Given the description of an element on the screen output the (x, y) to click on. 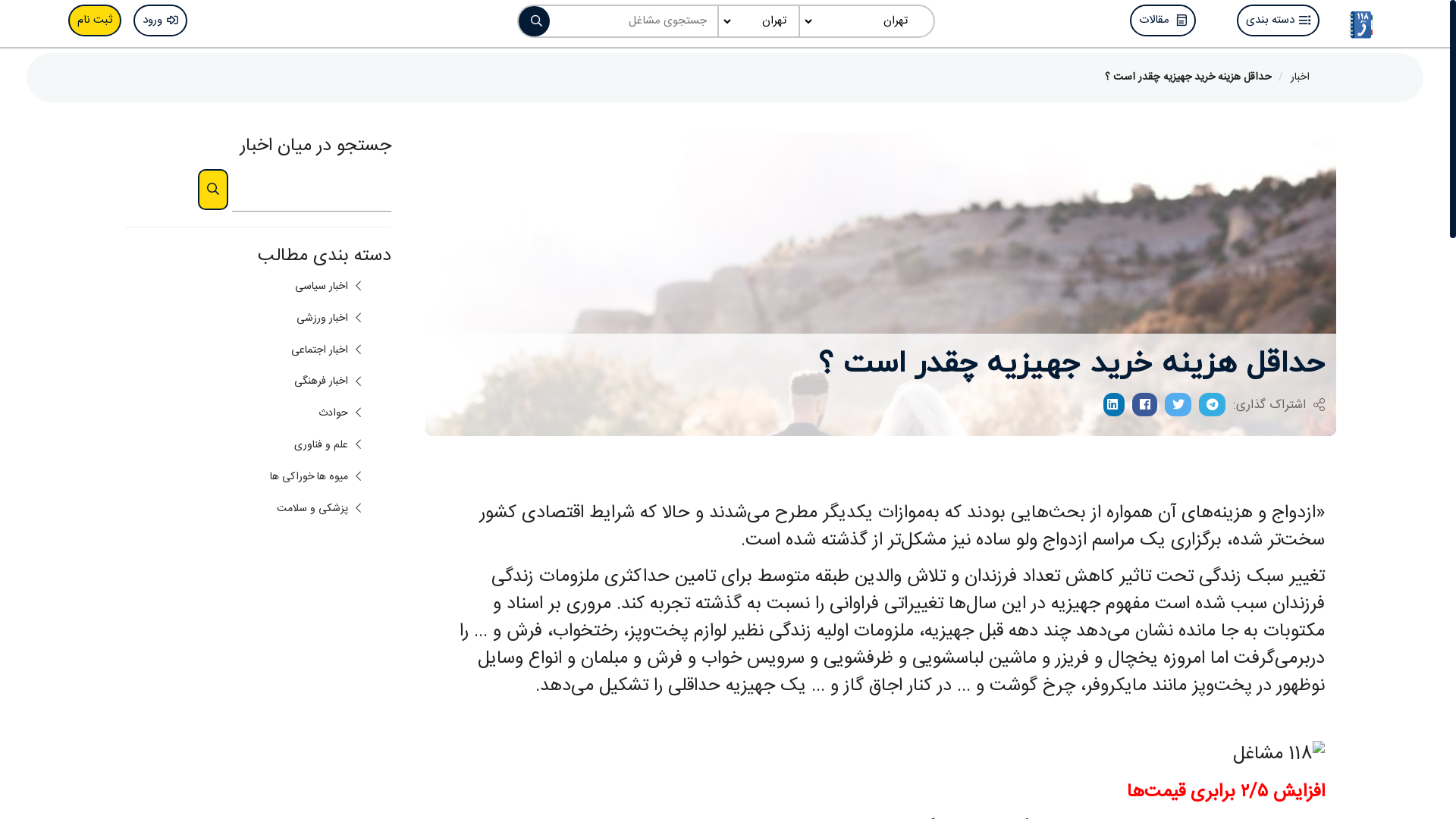
Share on Facebook Element type: hover (1144, 404)
Share on LinkedIn Element type: hover (1113, 404)
Share on Telegram Element type: hover (1211, 404)
Share on Twitter Element type: hover (1177, 404)
